Given the description of an element on the screen output the (x, y) to click on. 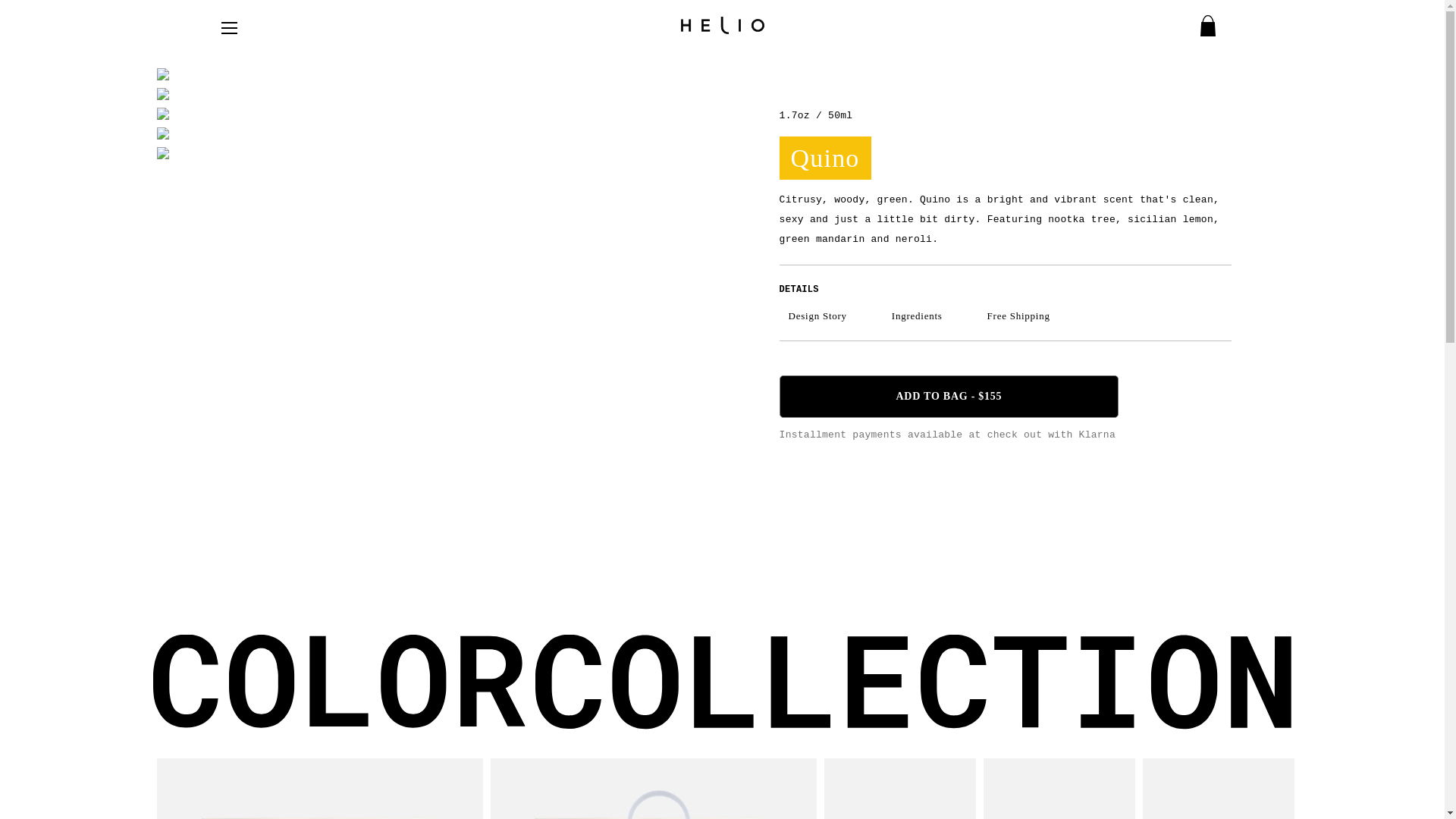
Design Story (817, 315)
Ingredients (916, 315)
Free Shipping (1017, 315)
